Given the description of an element on the screen output the (x, y) to click on. 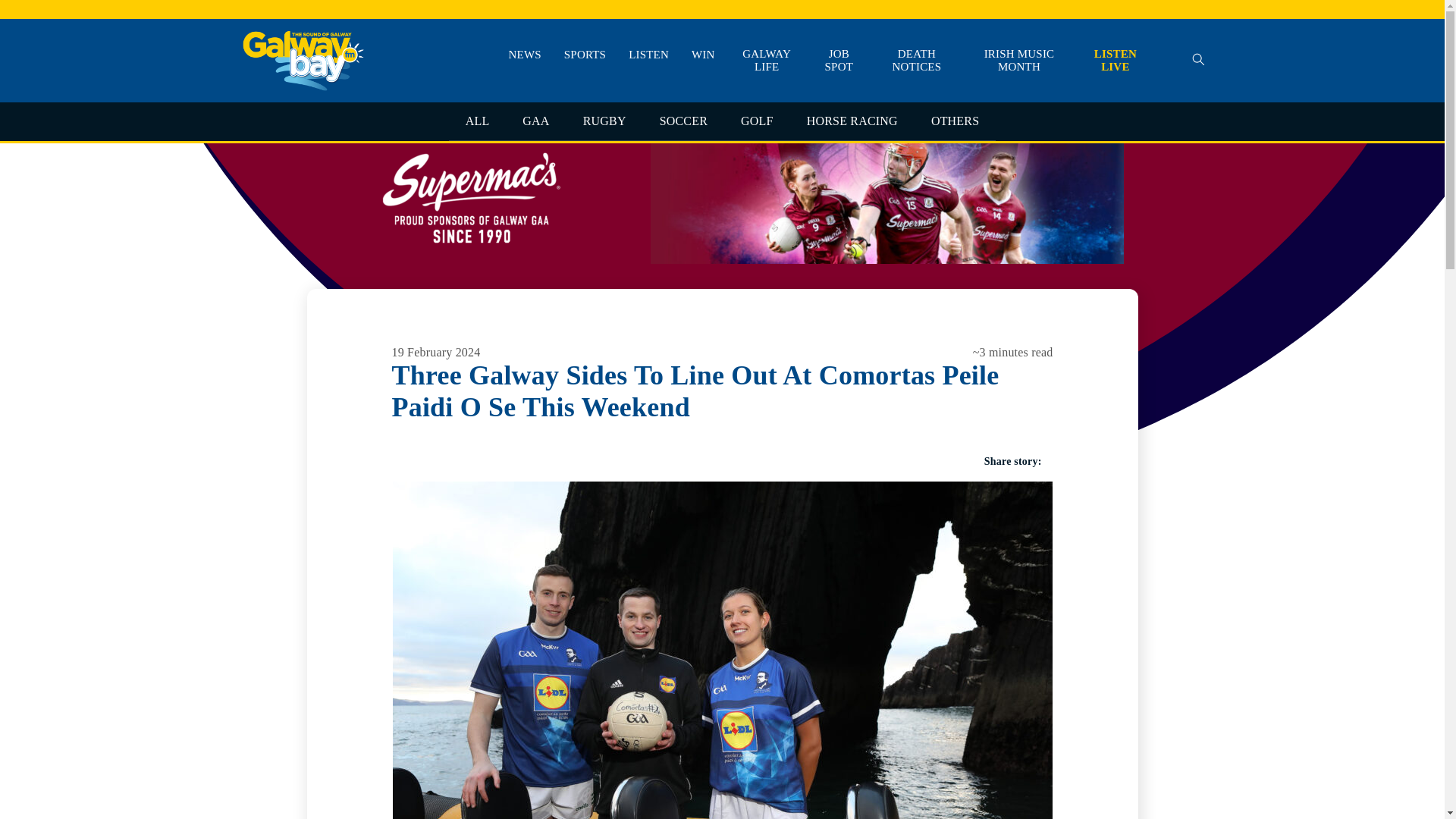
NEWS (524, 54)
HORSE RACING (852, 121)
SPORTS (584, 54)
SOCCER (683, 121)
GALWAY LIFE (767, 60)
GOLF (756, 121)
JOB SPOT (838, 60)
GAA (535, 121)
IRISH MUSIC MONTH (1019, 60)
DEATH NOTICES (917, 60)
